Given the description of an element on the screen output the (x, y) to click on. 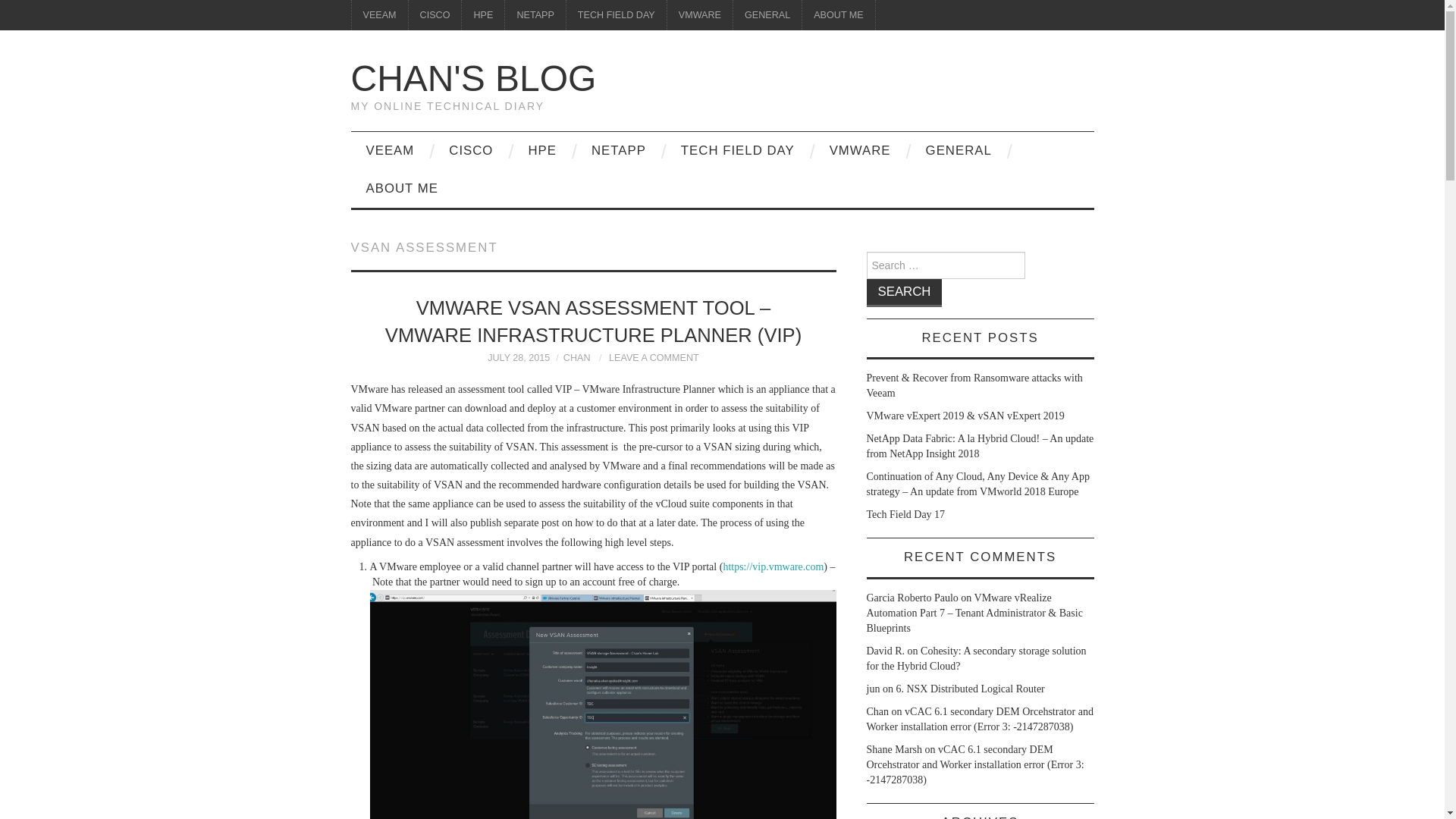
Search (904, 293)
Search (904, 293)
VMWARE (699, 15)
HPE (482, 15)
NETAPP (534, 15)
CISCO (435, 15)
TECH FIELD DAY (616, 15)
Search for: (945, 265)
VEEAM (379, 15)
Chan's Blog (472, 78)
